Given the description of an element on the screen output the (x, y) to click on. 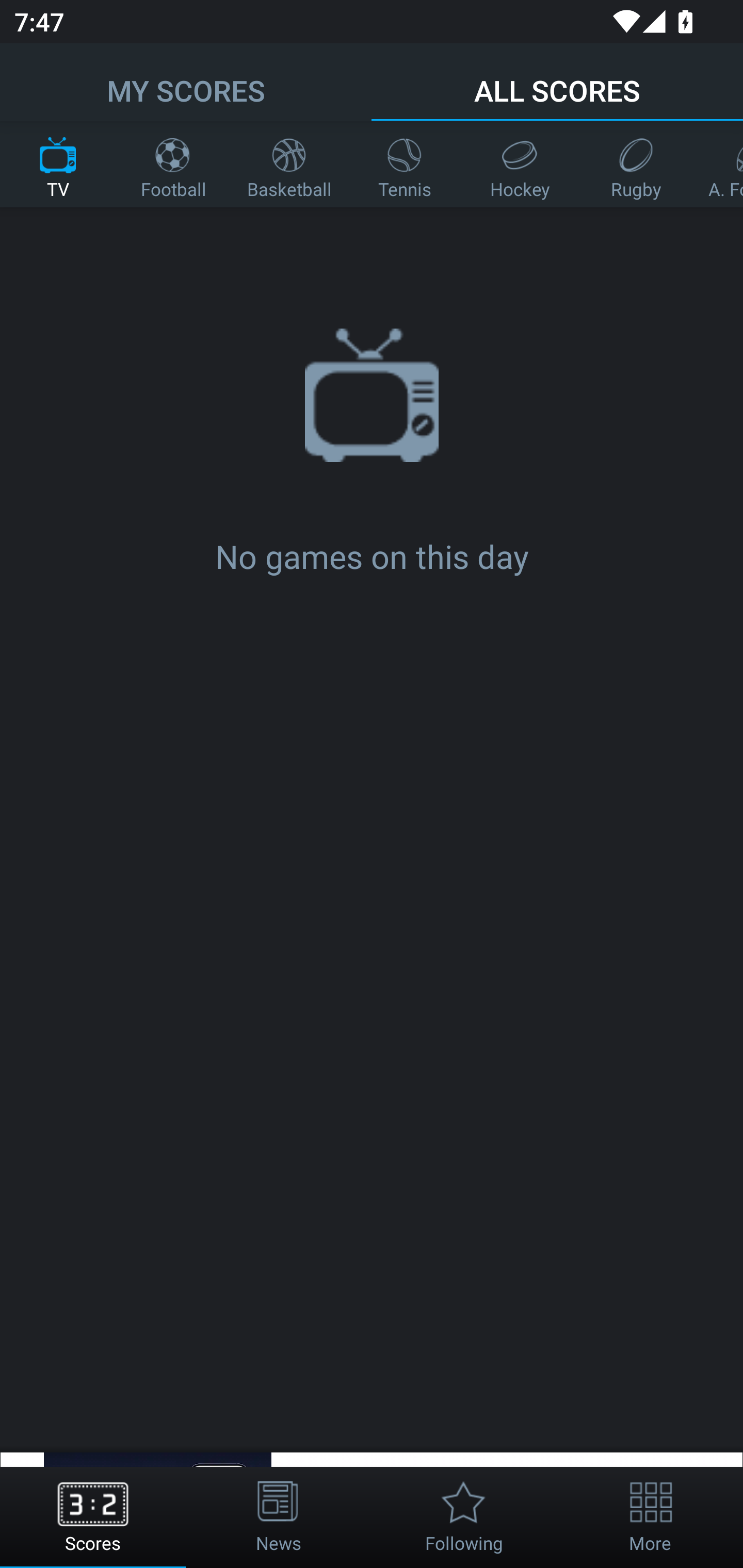
MY SCORES (185, 81)
ALL SCORES (557, 81)
TV (57, 163)
Football (173, 163)
Basketball (288, 163)
Tennis (404, 163)
Hockey (520, 163)
Rugby (635, 163)
News (278, 1517)
Following (464, 1517)
More (650, 1517)
